Given the description of an element on the screen output the (x, y) to click on. 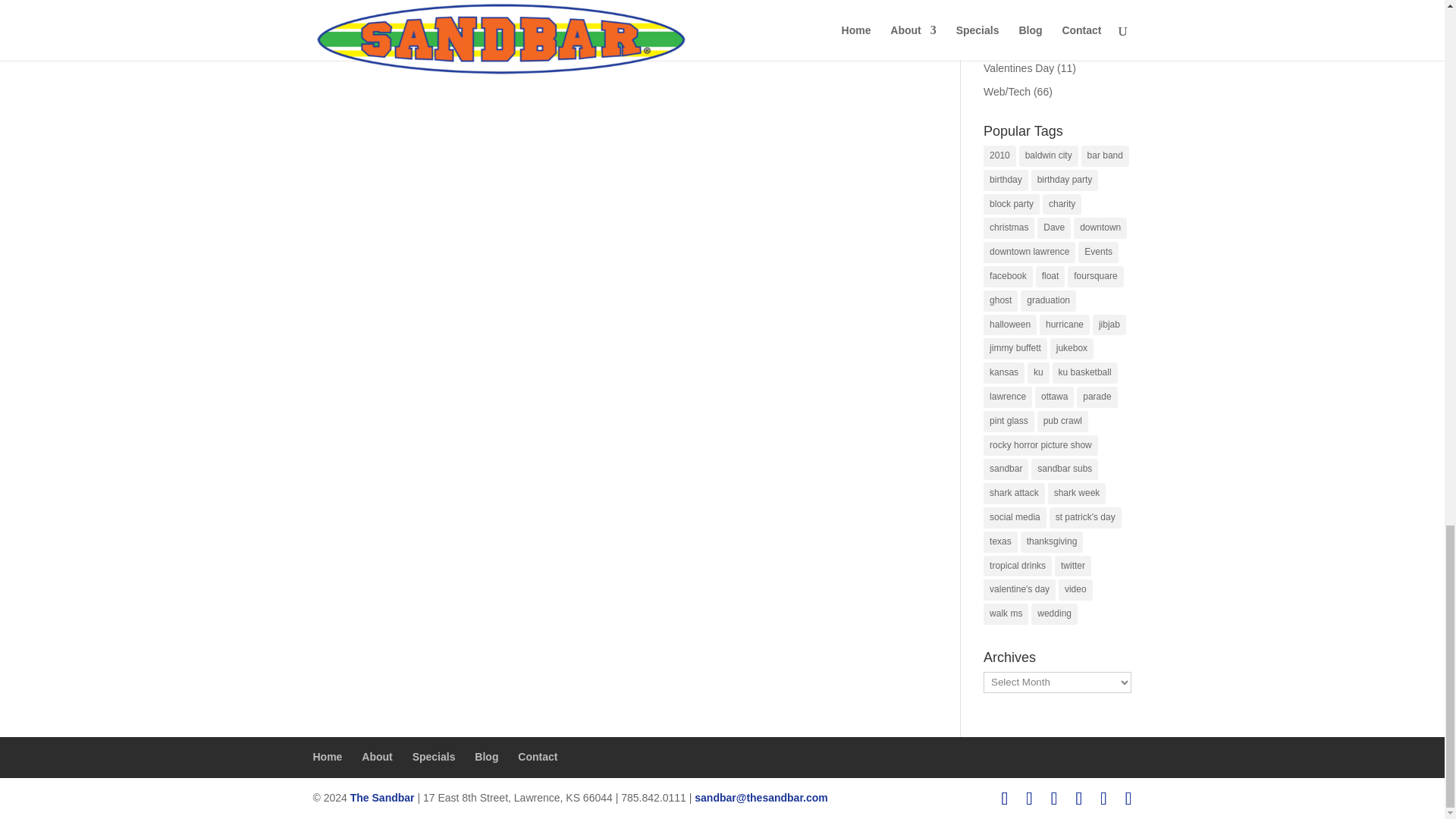
The Sandbar (382, 797)
The Sandbar (760, 797)
